Given the description of an element on the screen output the (x, y) to click on. 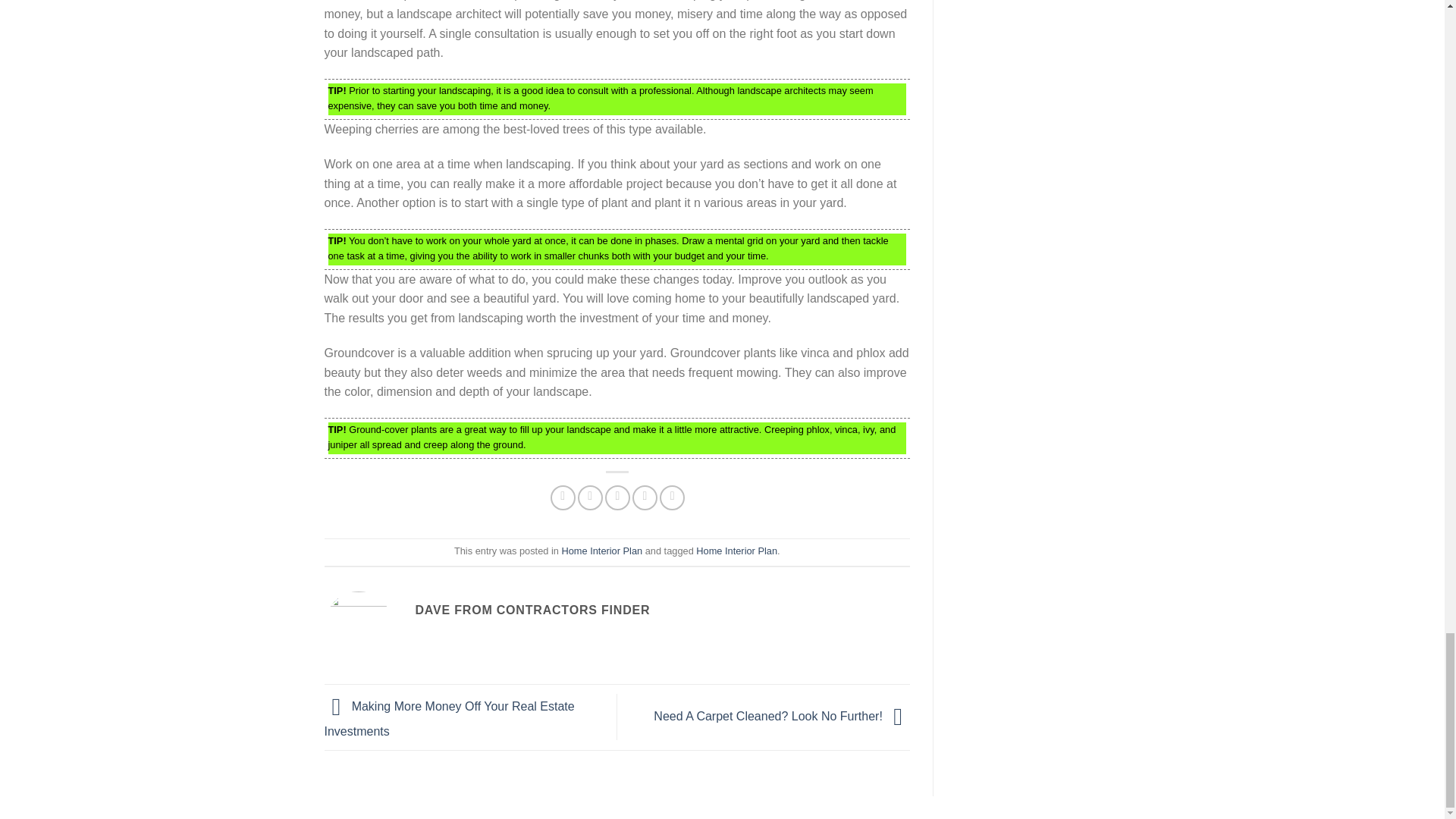
Making More Money Off Your Real Estate Investments (449, 718)
Share on Facebook (562, 497)
Home Interior Plan (601, 550)
Pin on Pinterest (644, 497)
Email to a Friend (617, 497)
Share on Twitter (590, 497)
Share on LinkedIn (671, 497)
Need A Carpet Cleaned? Look No Further! (781, 716)
Home Interior Plan (736, 550)
